Given the description of an element on the screen output the (x, y) to click on. 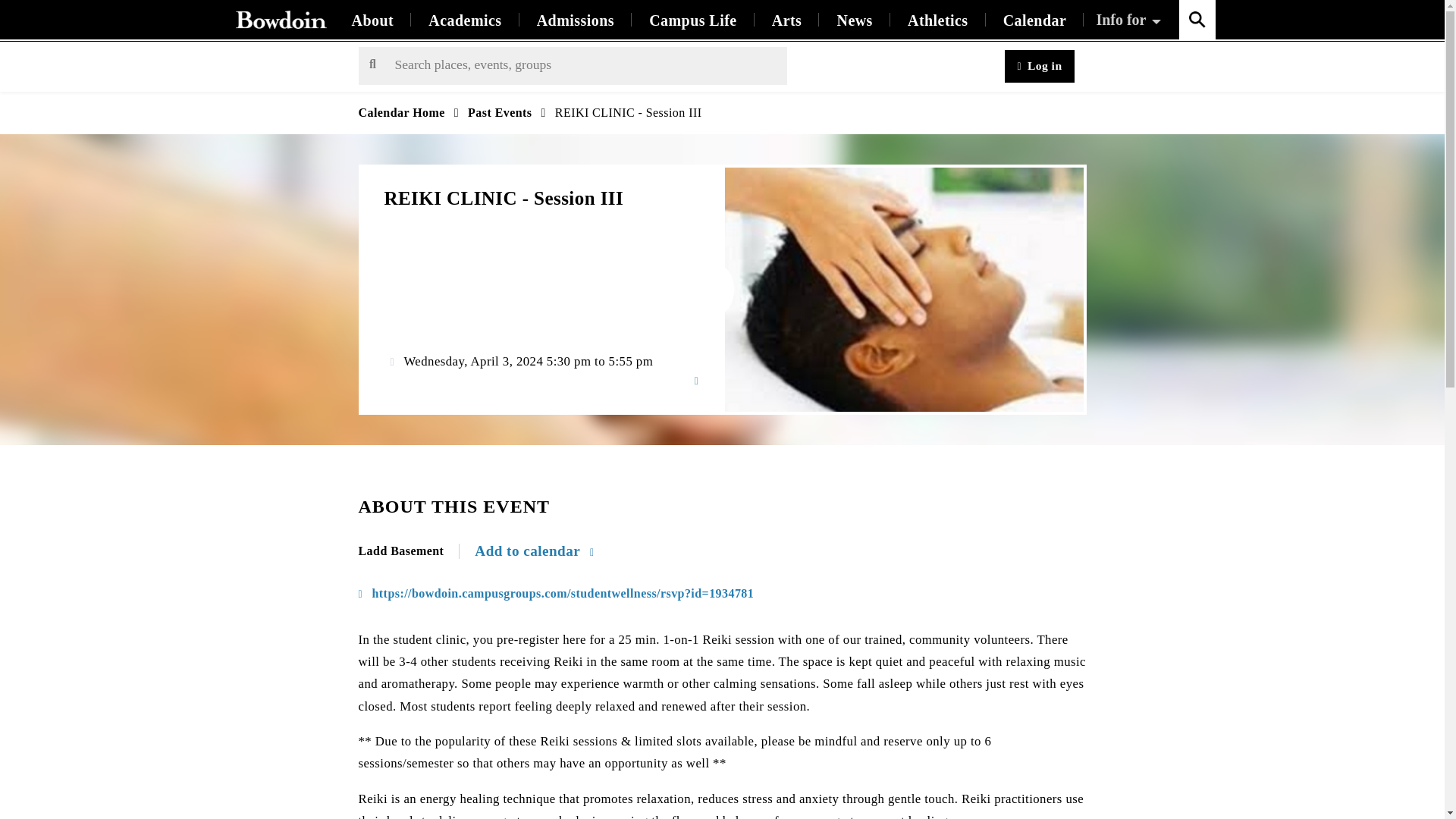
Search Bowdoin College (1195, 19)
About (371, 19)
Log in (1039, 65)
Calendar (1034, 19)
Calendar Home (401, 112)
Athletics (937, 19)
Add to calendar (534, 551)
Info for (1129, 19)
Admissions (575, 19)
Past Events (499, 112)
